Given the description of an element on the screen output the (x, y) to click on. 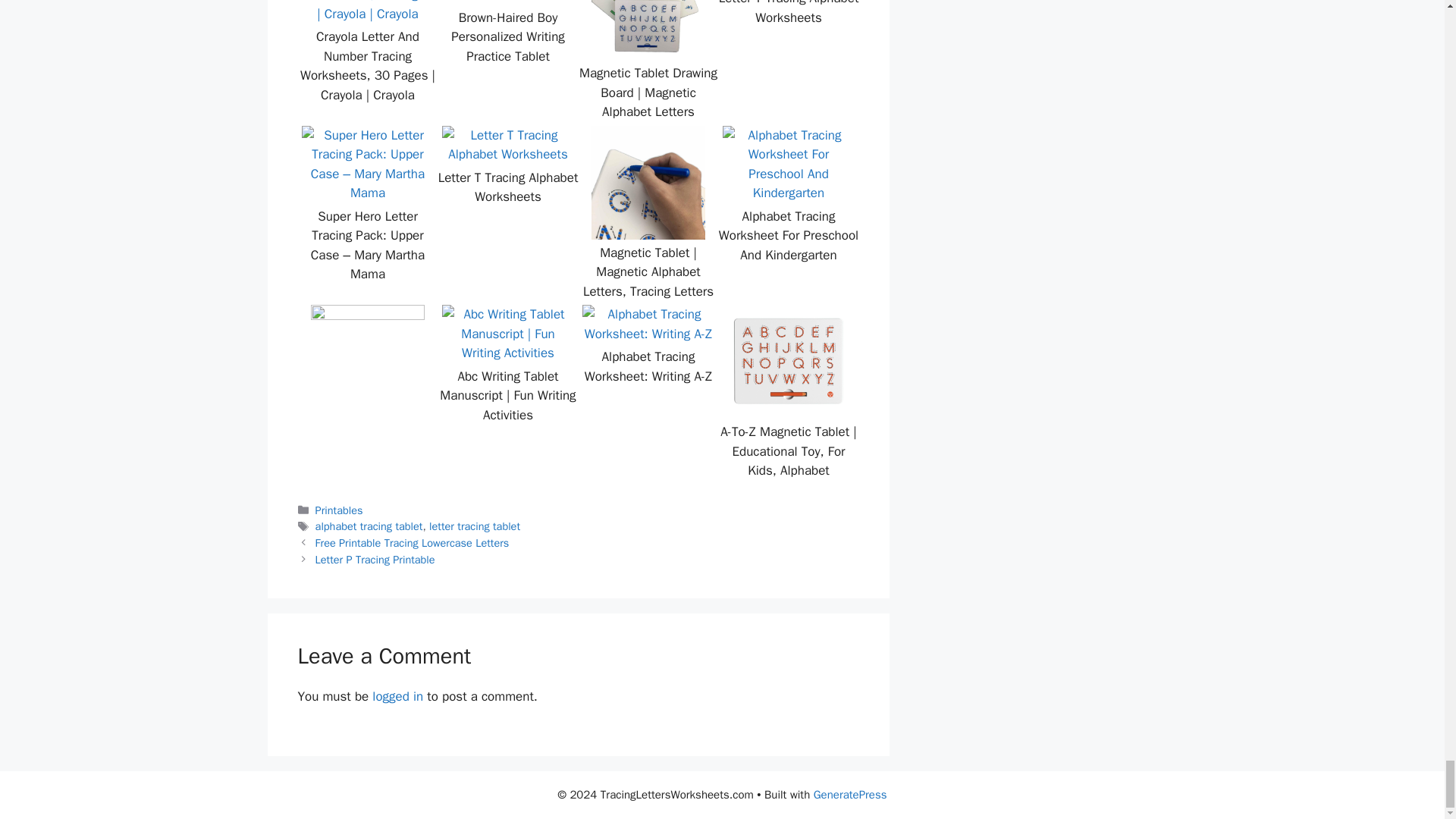
Previous (412, 542)
Free Printable Tracing Lowercase Letters (412, 542)
letter tracing tablet (474, 526)
logged in (397, 696)
Letter P Tracing Printable (375, 559)
Next (375, 559)
Printables (338, 509)
alphabet tracing tablet (369, 526)
